Given the description of an element on the screen output the (x, y) to click on. 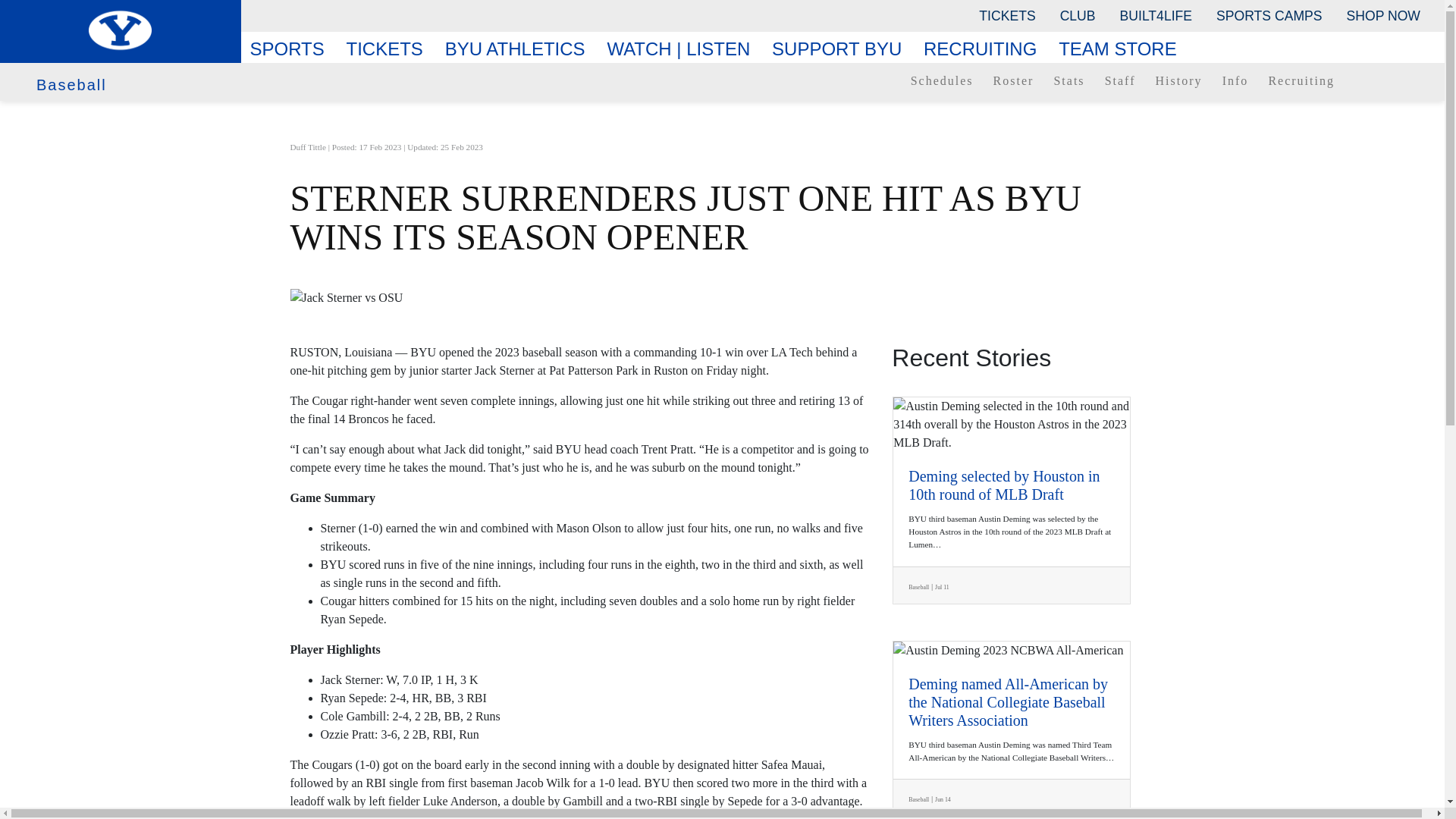
SHOP NOW (1383, 15)
SPORTS CAMPS (1268, 15)
SPORTS (292, 49)
BUILT4LIFE (1156, 15)
CLUB (1078, 15)
TICKETS (1006, 15)
